Given the description of an element on the screen output the (x, y) to click on. 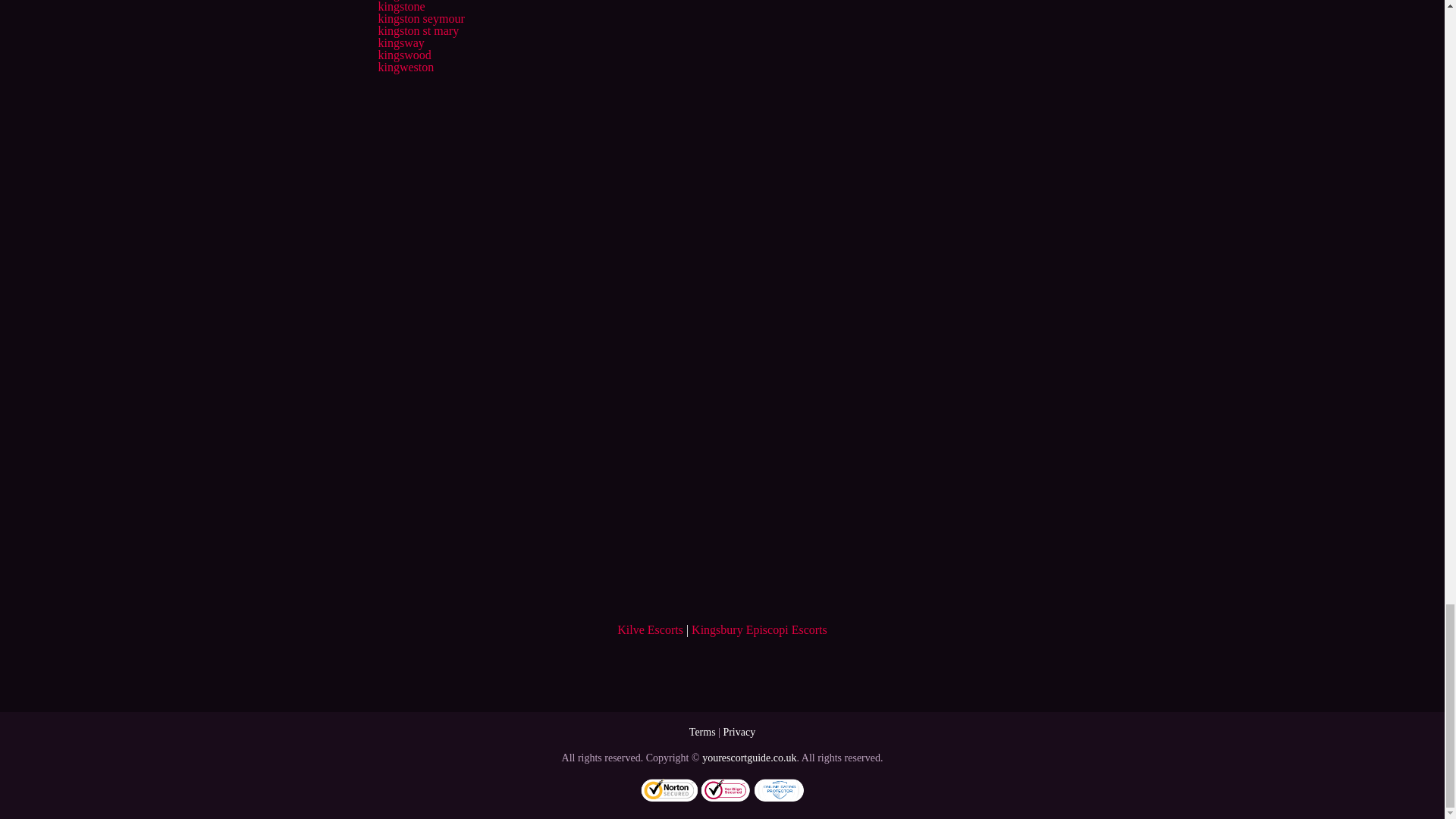
kingsmead (403, 0)
kingston seymour (420, 18)
kingsway (400, 42)
Terms (702, 731)
kingston st mary (417, 30)
Privacy (738, 731)
kingweston (405, 66)
kingswood (403, 54)
Terms (702, 731)
Privacy (738, 731)
